Given the description of an element on the screen output the (x, y) to click on. 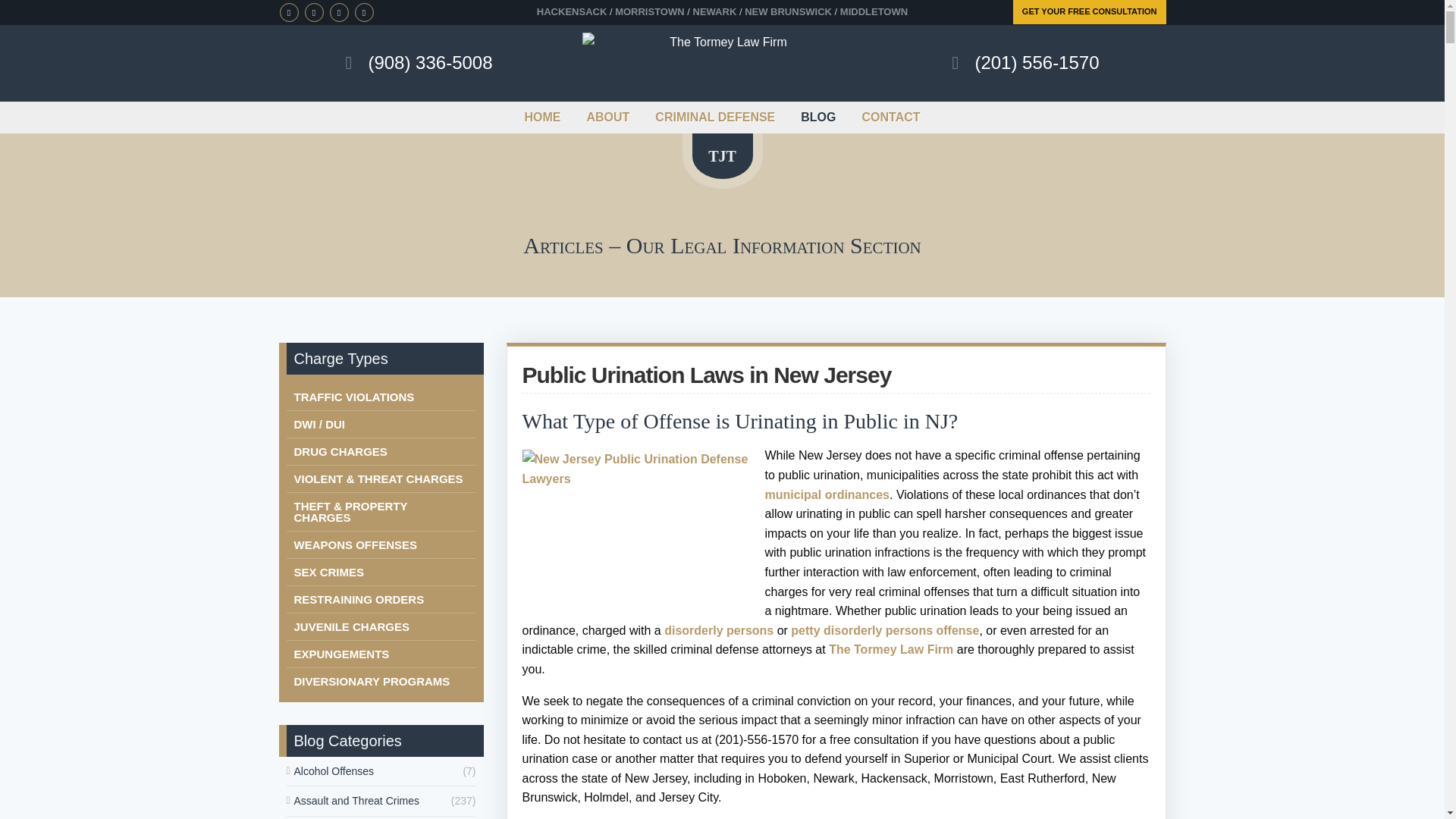
MIDDLETOWN (873, 11)
BLOG (817, 117)
GET YOUR FREE CONSULTATION (1089, 12)
HOME (548, 117)
NEW BRUNSWICK (787, 11)
petty disorderly persons offense (884, 630)
HACKENSACK (572, 11)
MORRISTOWN (649, 11)
ABOUT (607, 117)
disorderly persons (718, 630)
